Given the description of an element on the screen output the (x, y) to click on. 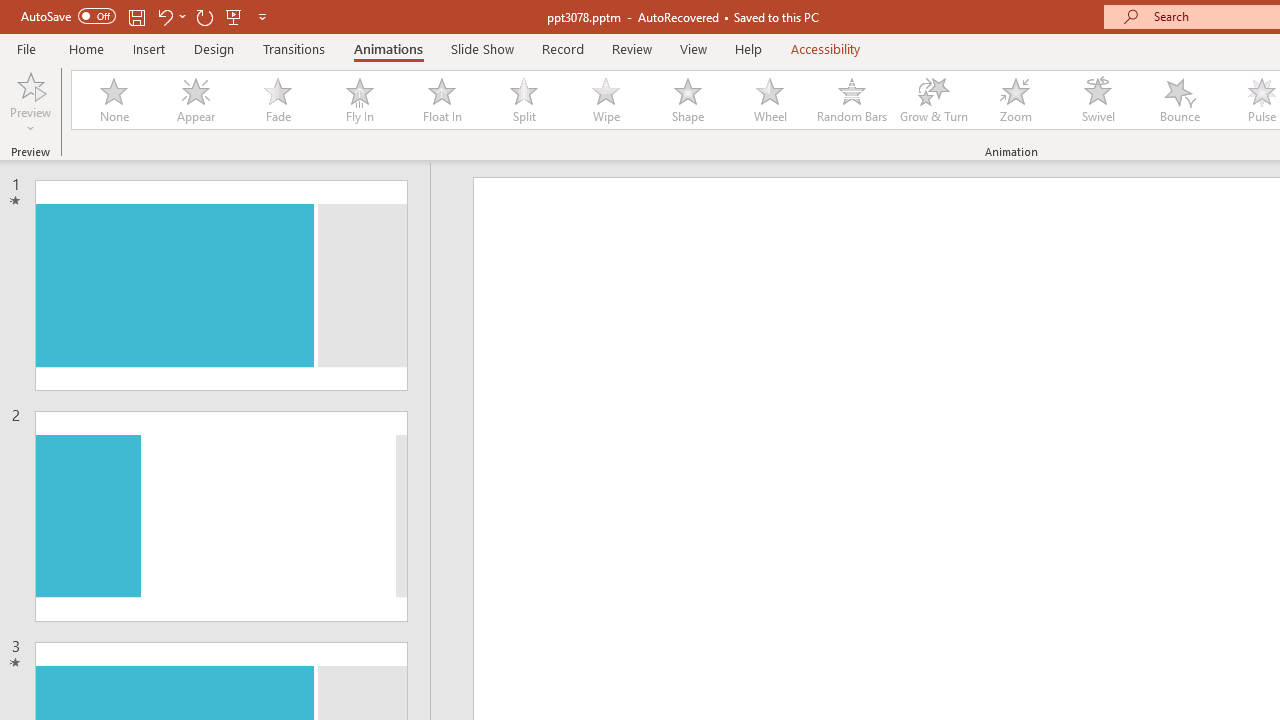
None (113, 100)
Random Bars (852, 100)
